Given the description of an element on the screen output the (x, y) to click on. 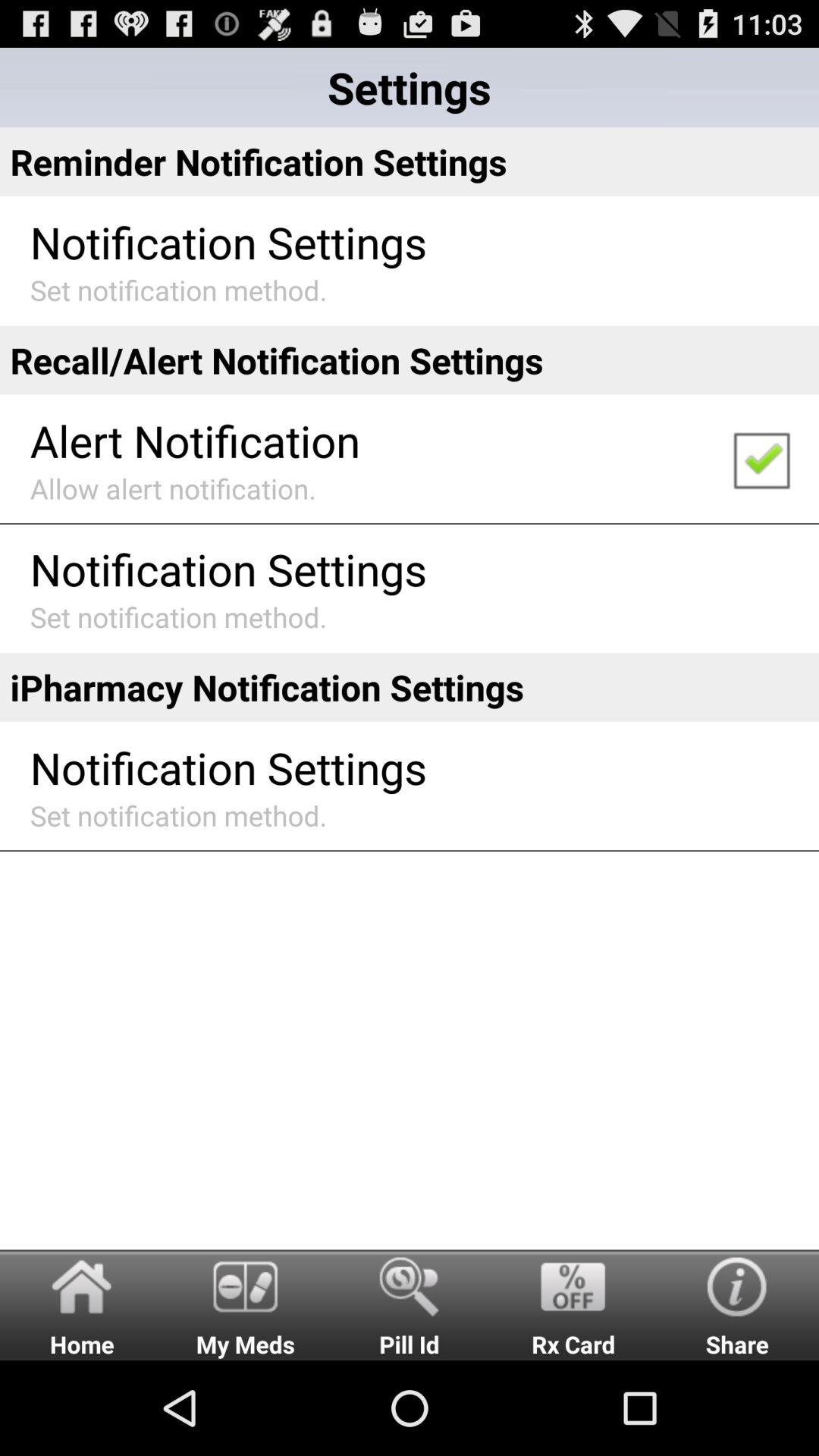
open the item at the bottom (409, 1304)
